Given the description of an element on the screen output the (x, y) to click on. 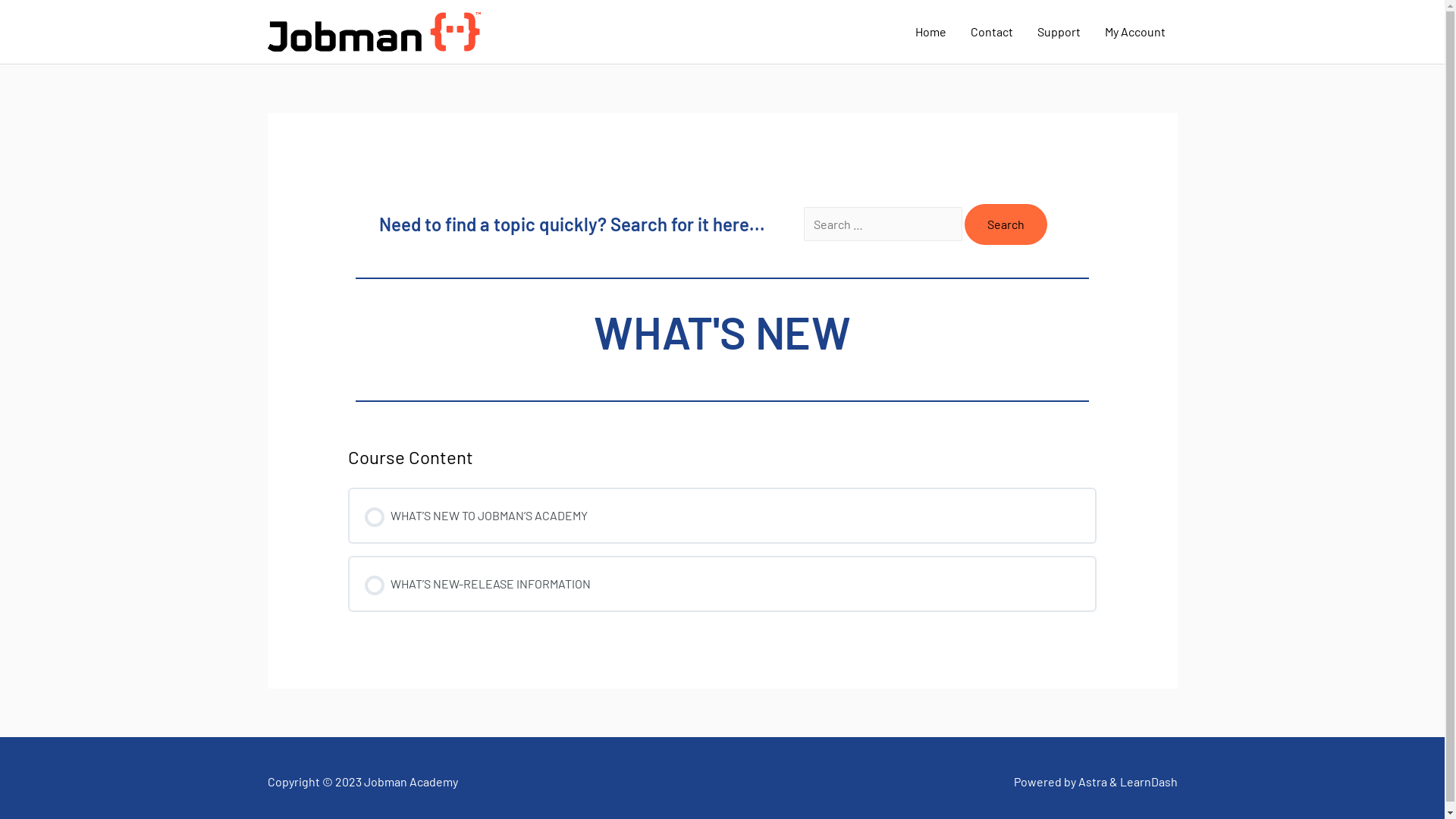
My Account Element type: text (1134, 31)
Search Element type: text (1005, 223)
Support Element type: text (1058, 31)
Home Element type: text (929, 31)
Contact Element type: text (991, 31)
